Given the description of an element on the screen output the (x, y) to click on. 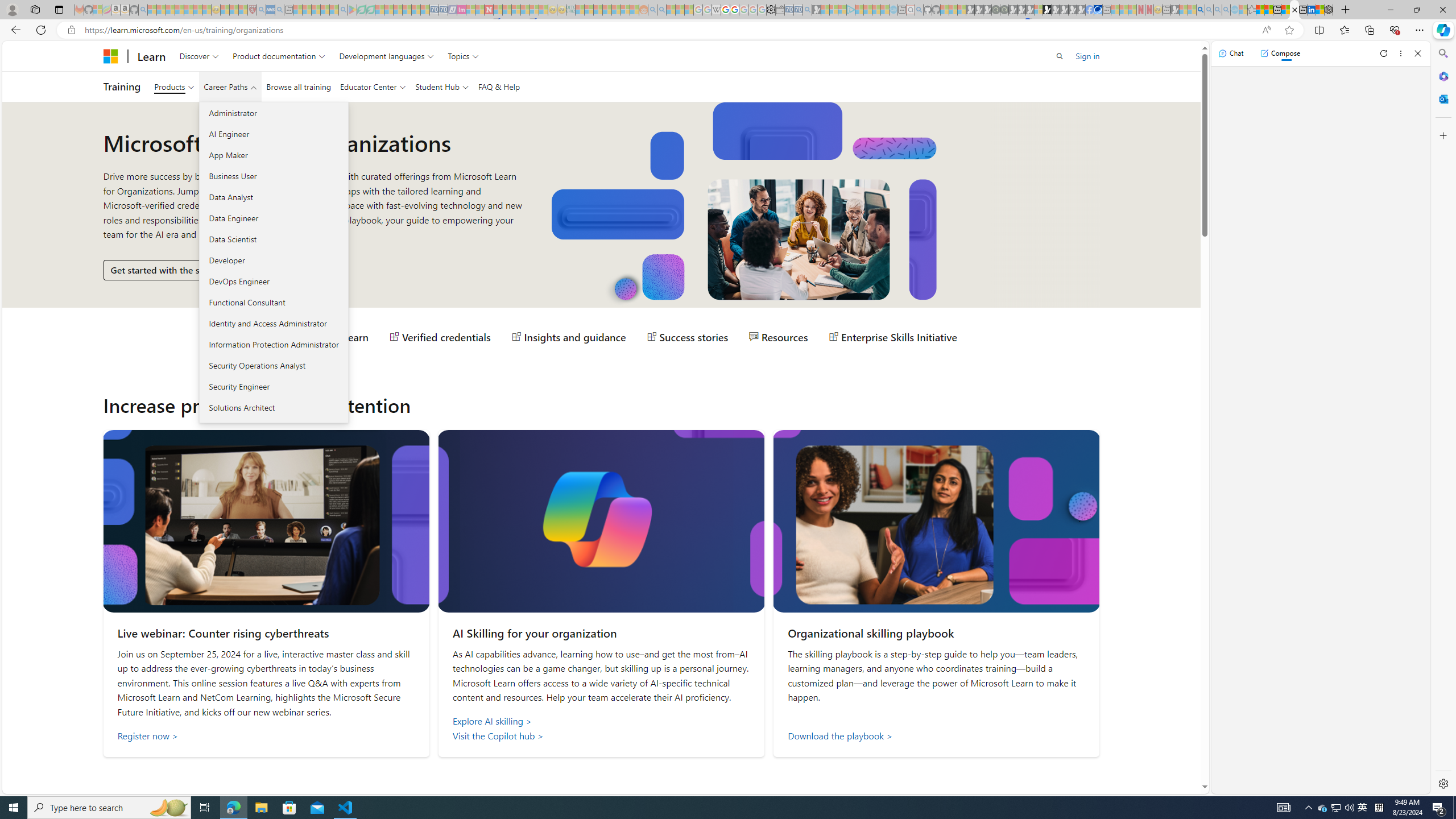
Compose (1279, 52)
FAQ & Help (499, 86)
Product documentation (278, 55)
FAQ & Help (499, 86)
Bing AI - Search (1200, 9)
